Given the description of an element on the screen output the (x, y) to click on. 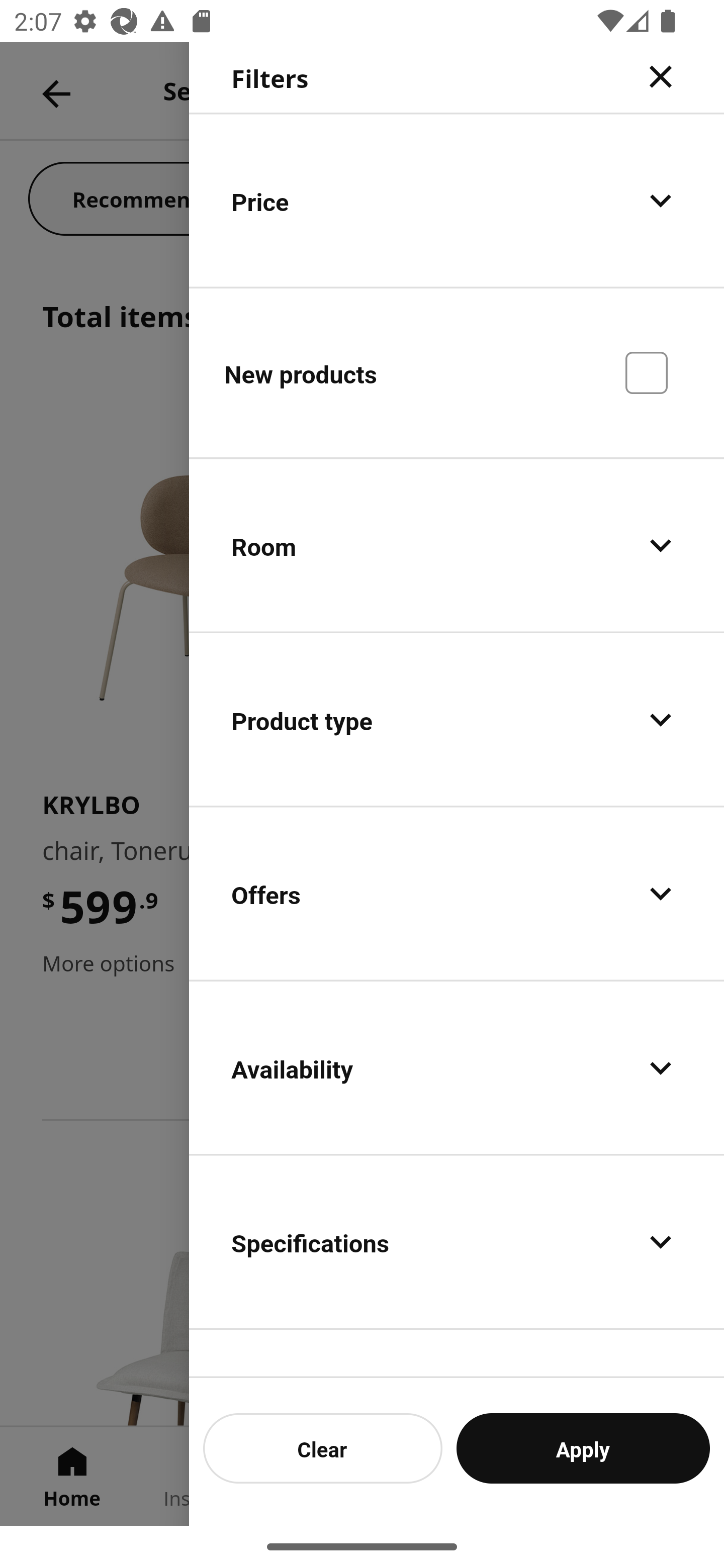
Price (456, 200)
New products (456, 371)
Room (456, 545)
Product type (456, 719)
Offers (456, 893)
Availability (456, 1067)
Specifications (456, 1241)
Clear (322, 1447)
Apply (583, 1447)
